Given the description of an element on the screen output the (x, y) to click on. 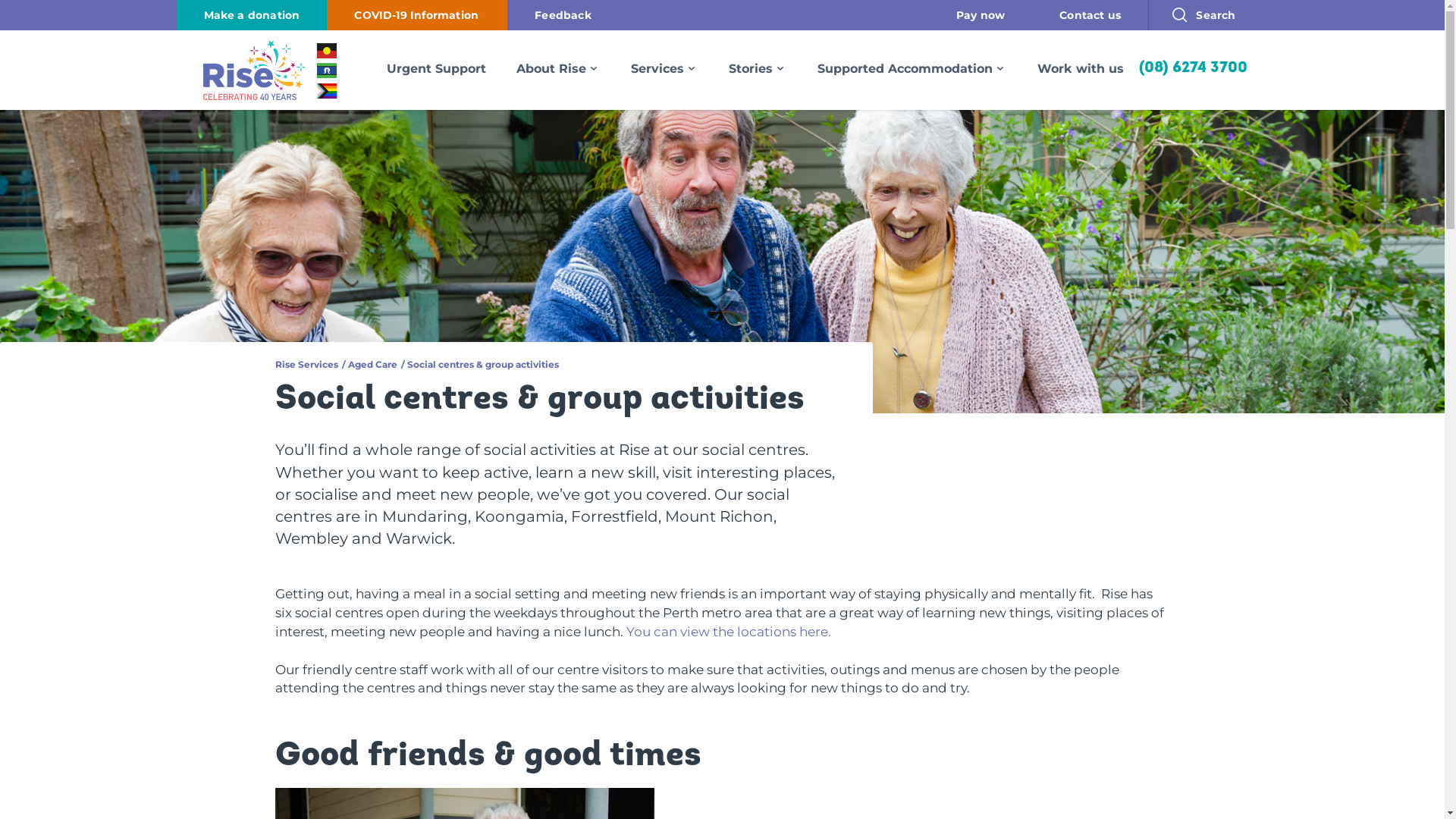
(08) 6274 3700 Element type: text (1193, 67)
Stories Element type: text (757, 68)
Pay now Element type: text (980, 15)
Company logo Element type: text (245, 69)
Contact us Element type: text (1090, 15)
Rise Services Element type: text (305, 364)
Aged Care Element type: text (371, 364)
Supported Accommodation Element type: text (912, 68)
Feedback Element type: text (562, 15)
You can view the locations here.  Element type: text (730, 631)
About Rise Element type: text (558, 68)
Urgent Support Element type: text (436, 68)
COVID-19 Information Element type: text (416, 15)
Services Element type: text (664, 68)
Work with us Element type: text (1080, 68)
Make a donation Element type: text (250, 15)
Search Element type: text (1207, 15)
